Given the description of an element on the screen output the (x, y) to click on. 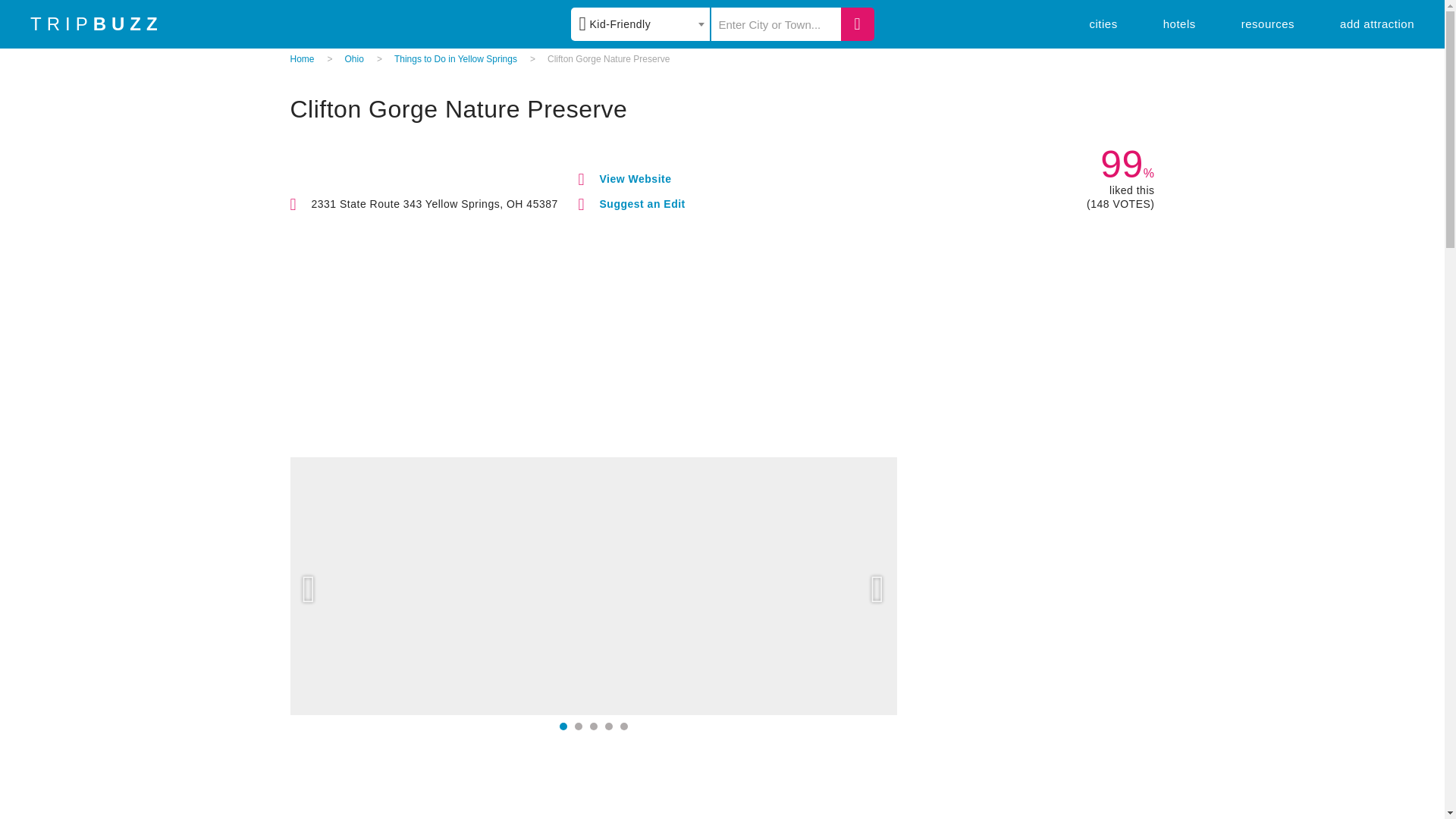
hotels (1179, 23)
Home (301, 59)
hotels (1179, 23)
1 (563, 726)
cities (1103, 23)
Suggest an Edit (641, 203)
resources (1267, 23)
2 (578, 726)
cities (1103, 23)
Ohio (354, 59)
